Given the description of an element on the screen output the (x, y) to click on. 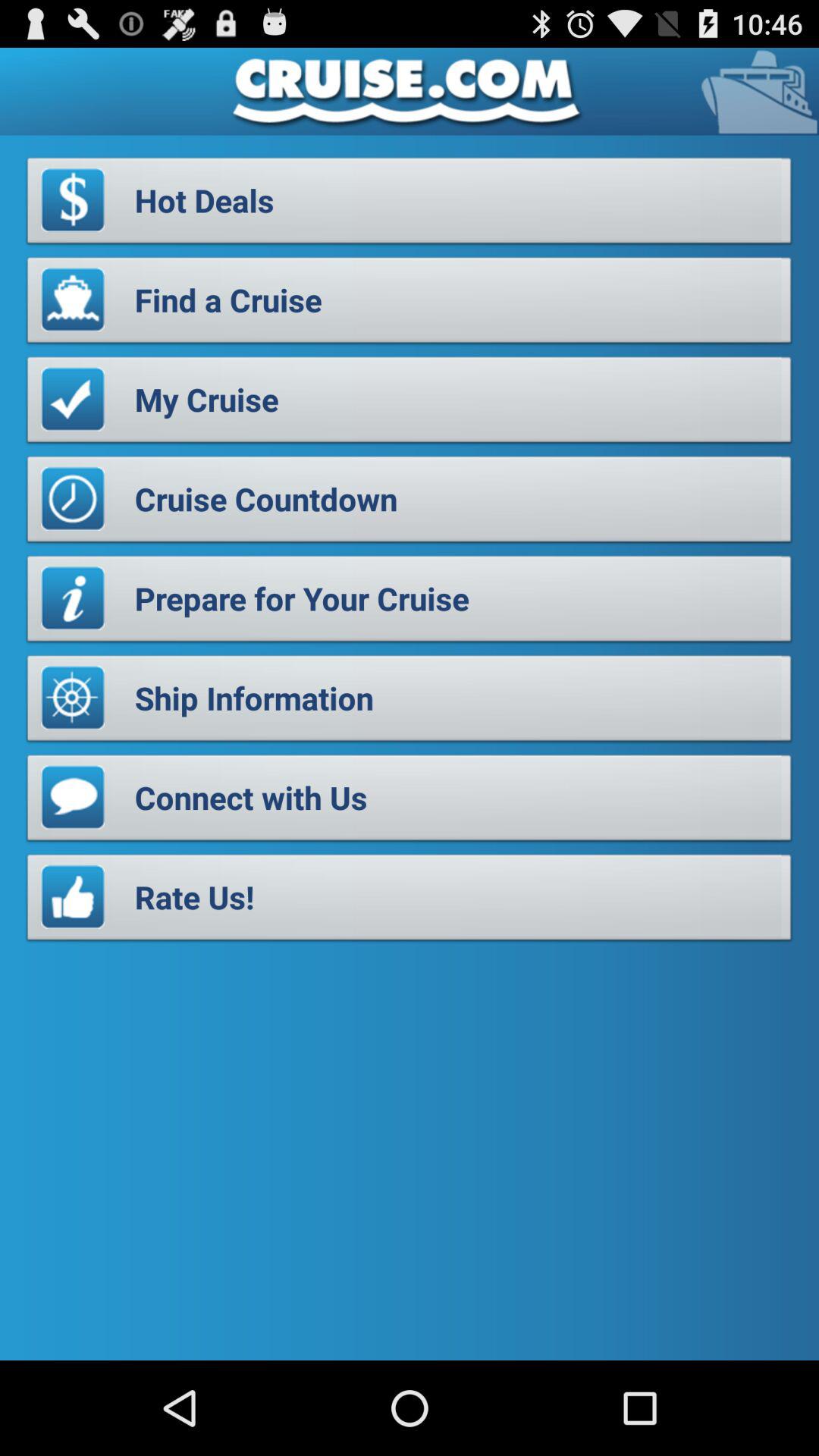
click icon above the find a cruise icon (409, 204)
